Given the description of an element on the screen output the (x, y) to click on. 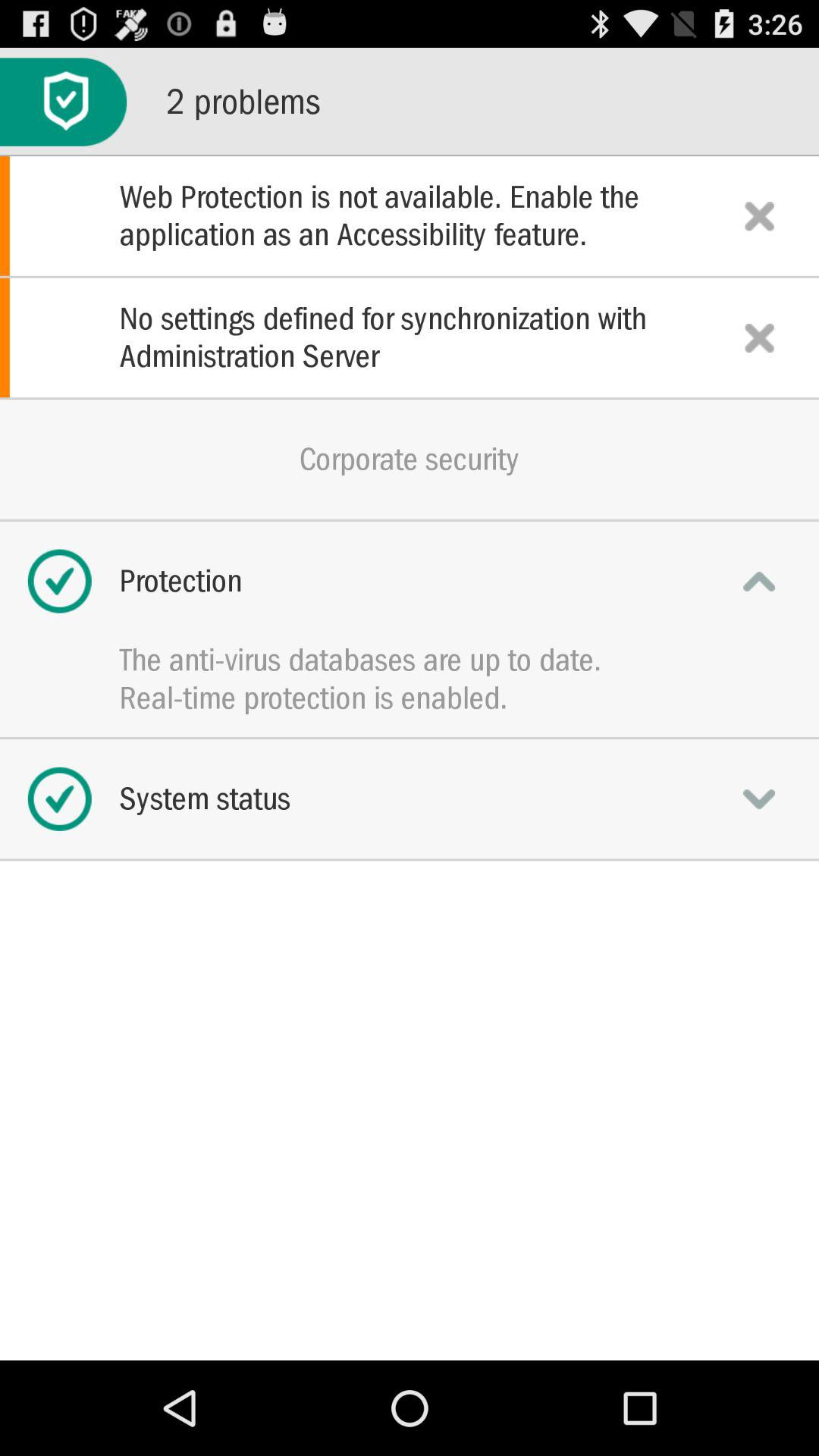
flip to the anti virus app (409, 659)
